Given the description of an element on the screen output the (x, y) to click on. 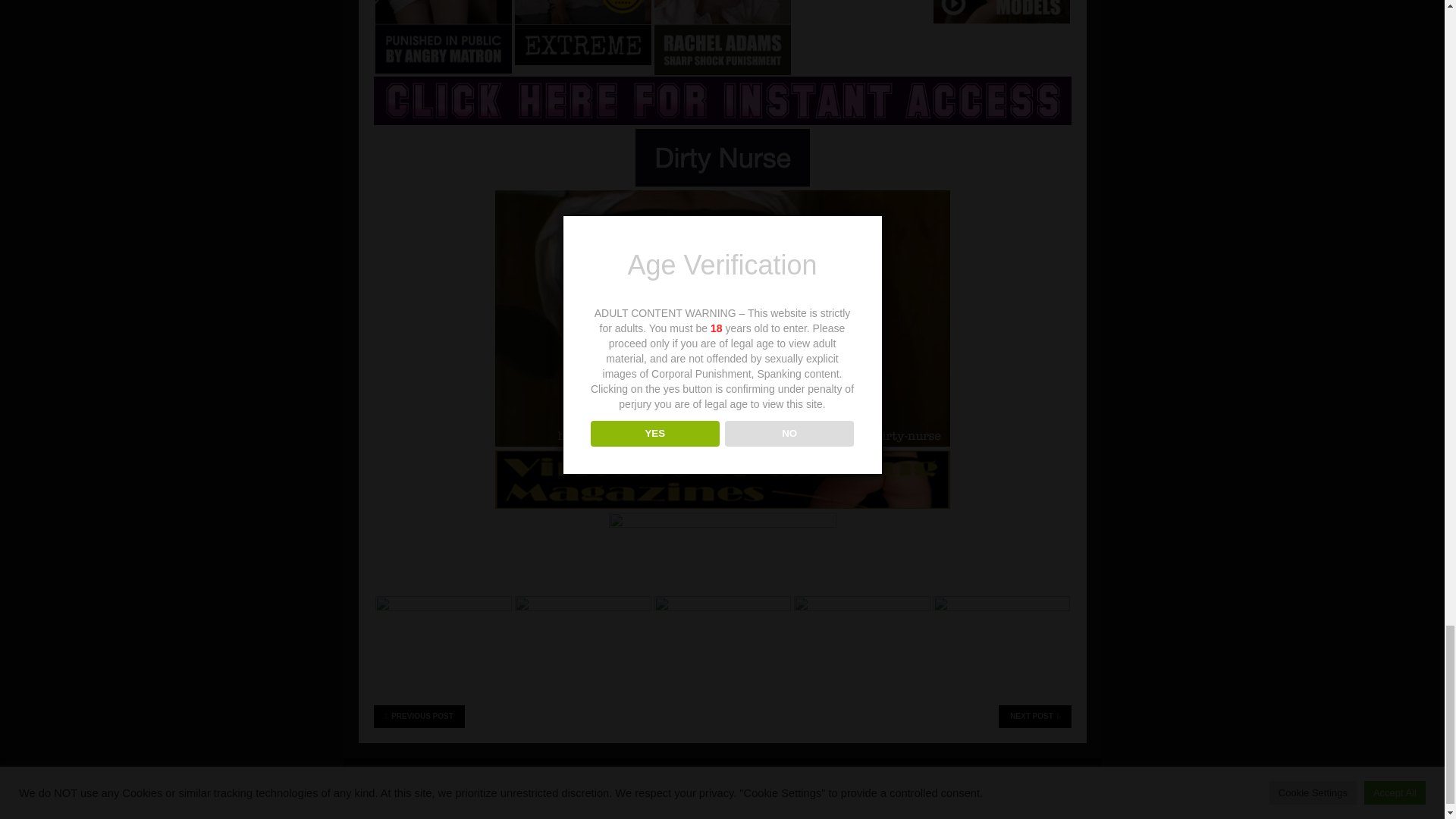
Rachel Adams Sharp Shock Punishment Spanked by Clara Hewitt (722, 38)
Extreme Hard Caning (582, 33)
